Given the description of an element on the screen output the (x, y) to click on. 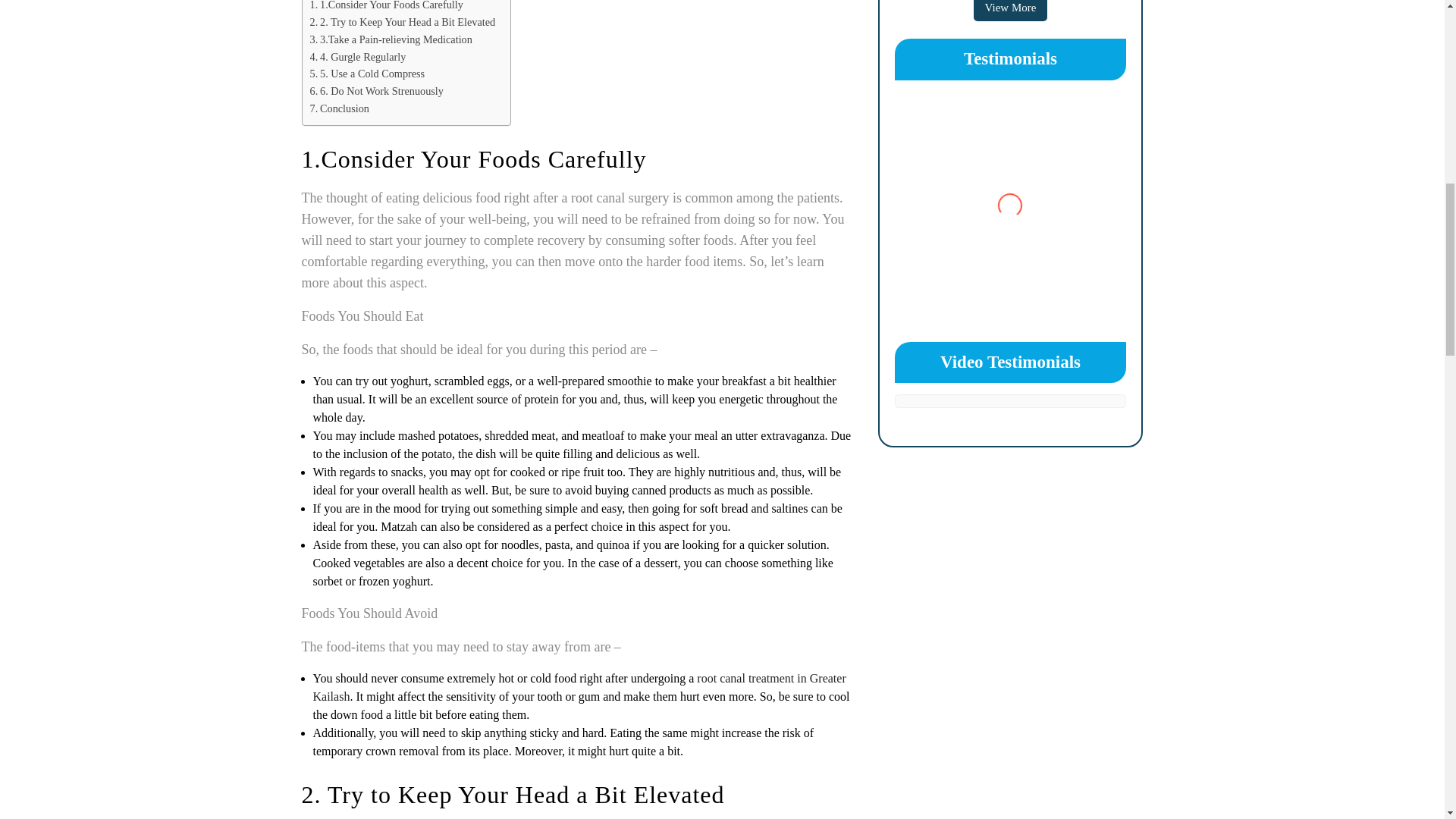
1.Consider Your Foods Carefully (385, 6)
Conclusion (338, 108)
4. Gurgle Regularly (357, 57)
2. Try to Keep Your Head a Bit Elevated (401, 22)
6. Do Not Work Strenuously (375, 90)
3.Take a Pain-relieving Medication (389, 39)
5. Use a Cold Compress (366, 73)
